Given the description of an element on the screen output the (x, y) to click on. 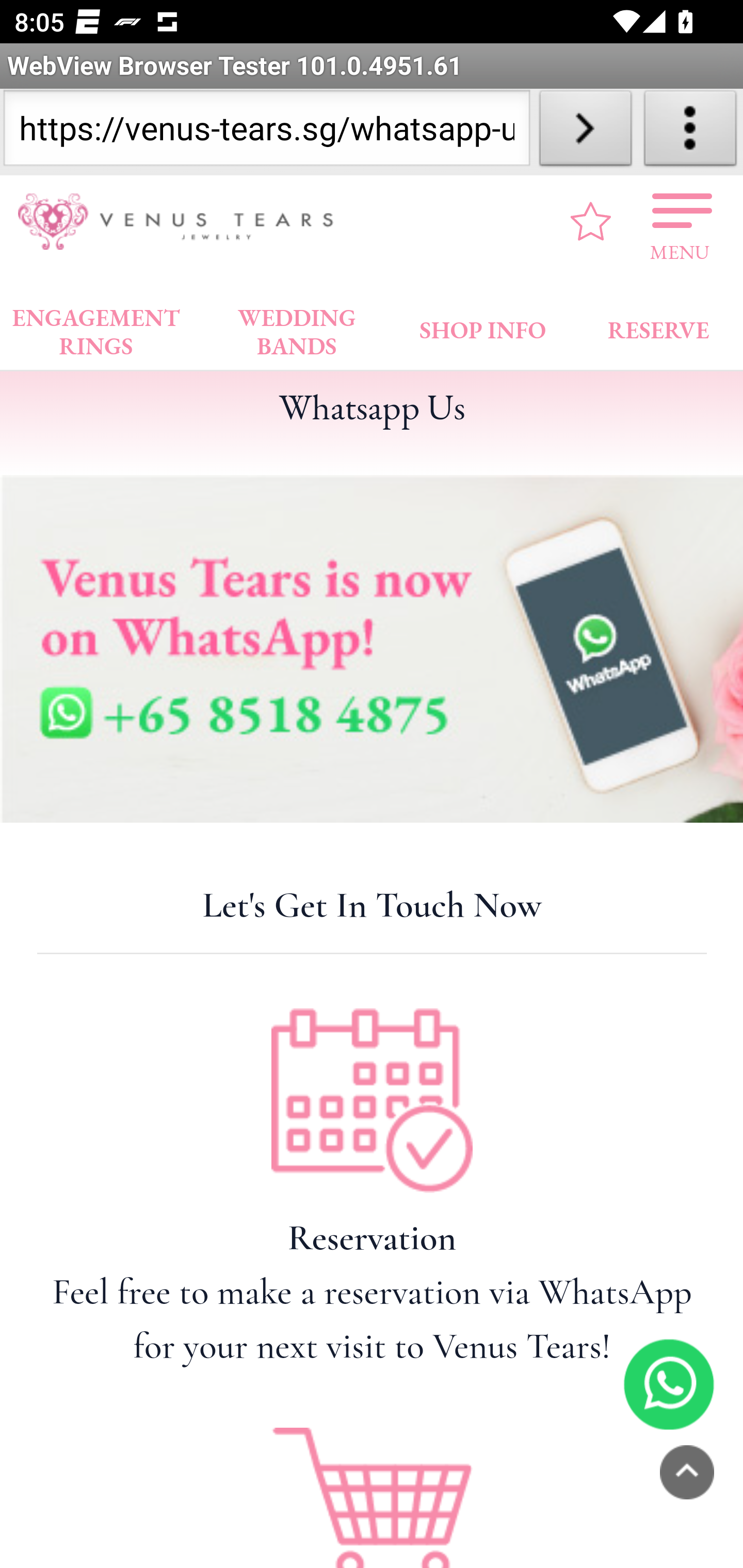
https://venus-tears.sg/whatsapp-us (266, 132)
Load URL (585, 132)
About WebView (690, 132)
favourite (591, 220)
MENU (680, 220)
VENUS TEARS (181, 221)
ENGAGEMENT RINGS ENGAGEMENT RINGS (96, 326)
WEDDING BANDS WEDDING BANDS (296, 326)
SHOP INFO (482, 325)
RESERVE (657, 325)
6585184875 (668, 1383)
PAGETOP (686, 1472)
